Given the description of an element on the screen output the (x, y) to click on. 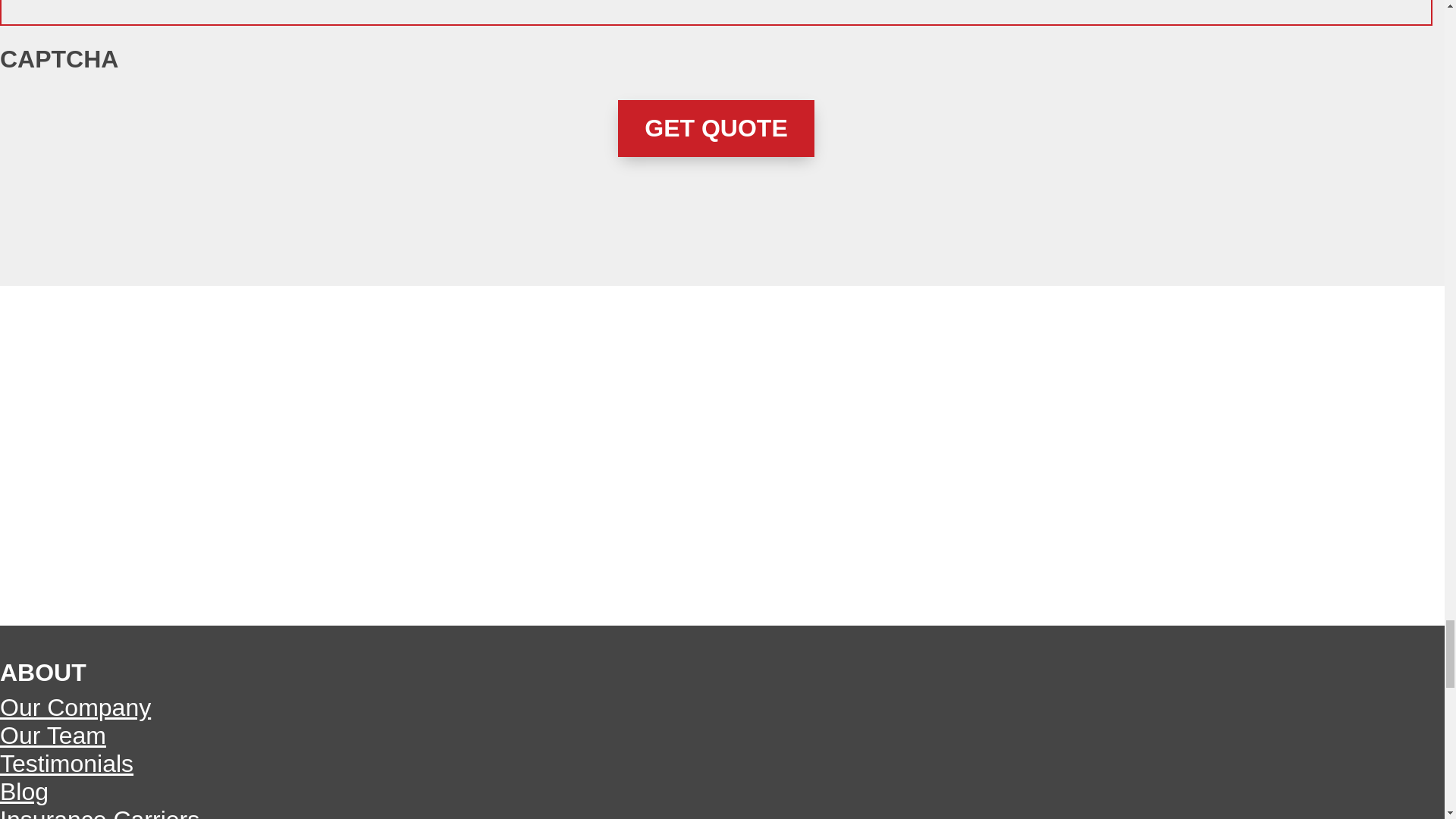
Get Quote (715, 128)
